Given the description of an element on the screen output the (x, y) to click on. 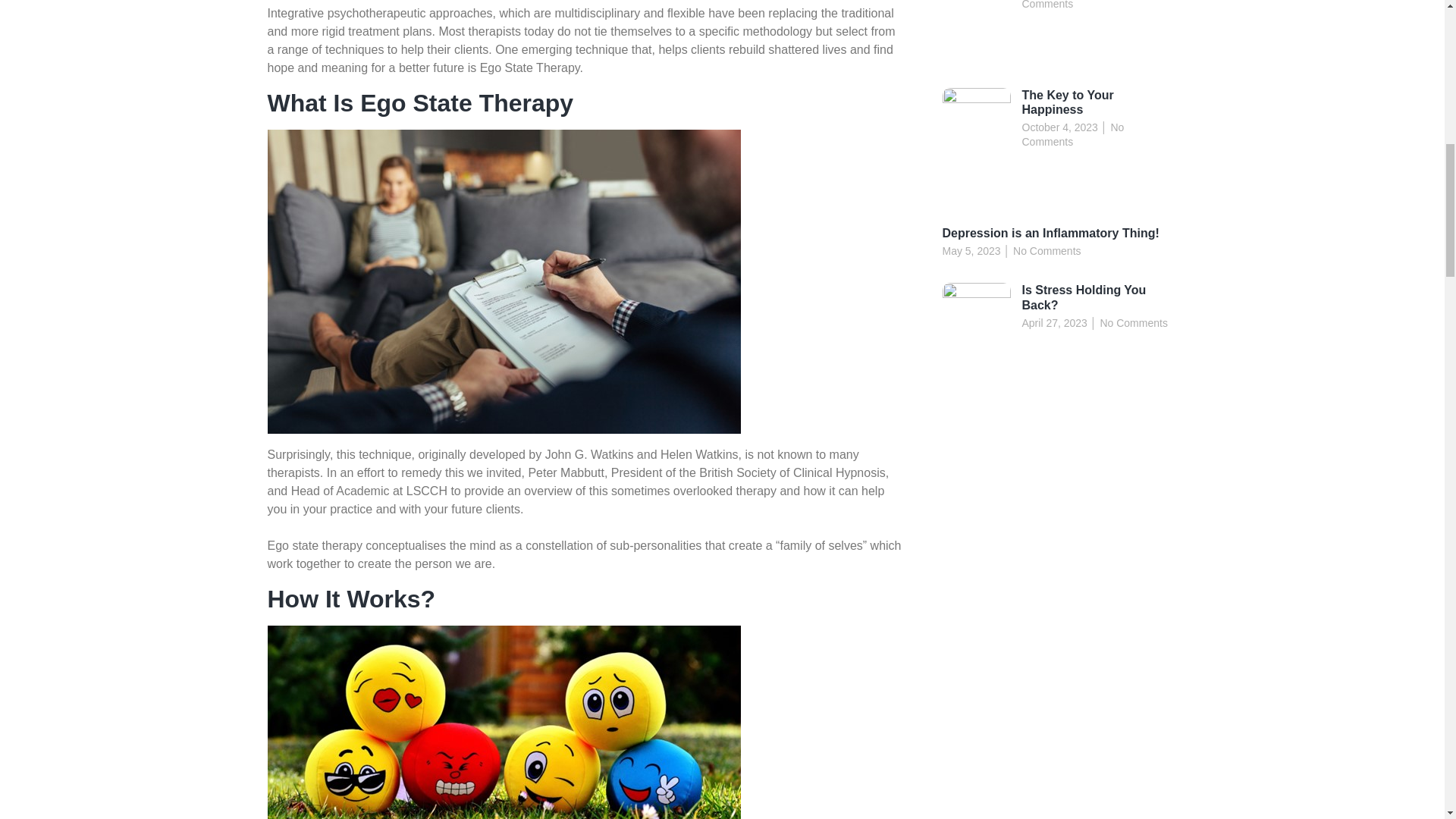
The Key to Your Happiness (1067, 102)
Is Stress Holding You Back? (1084, 297)
Depression is an Inflammatory Thing! (1050, 232)
